Given the description of an element on the screen output the (x, y) to click on. 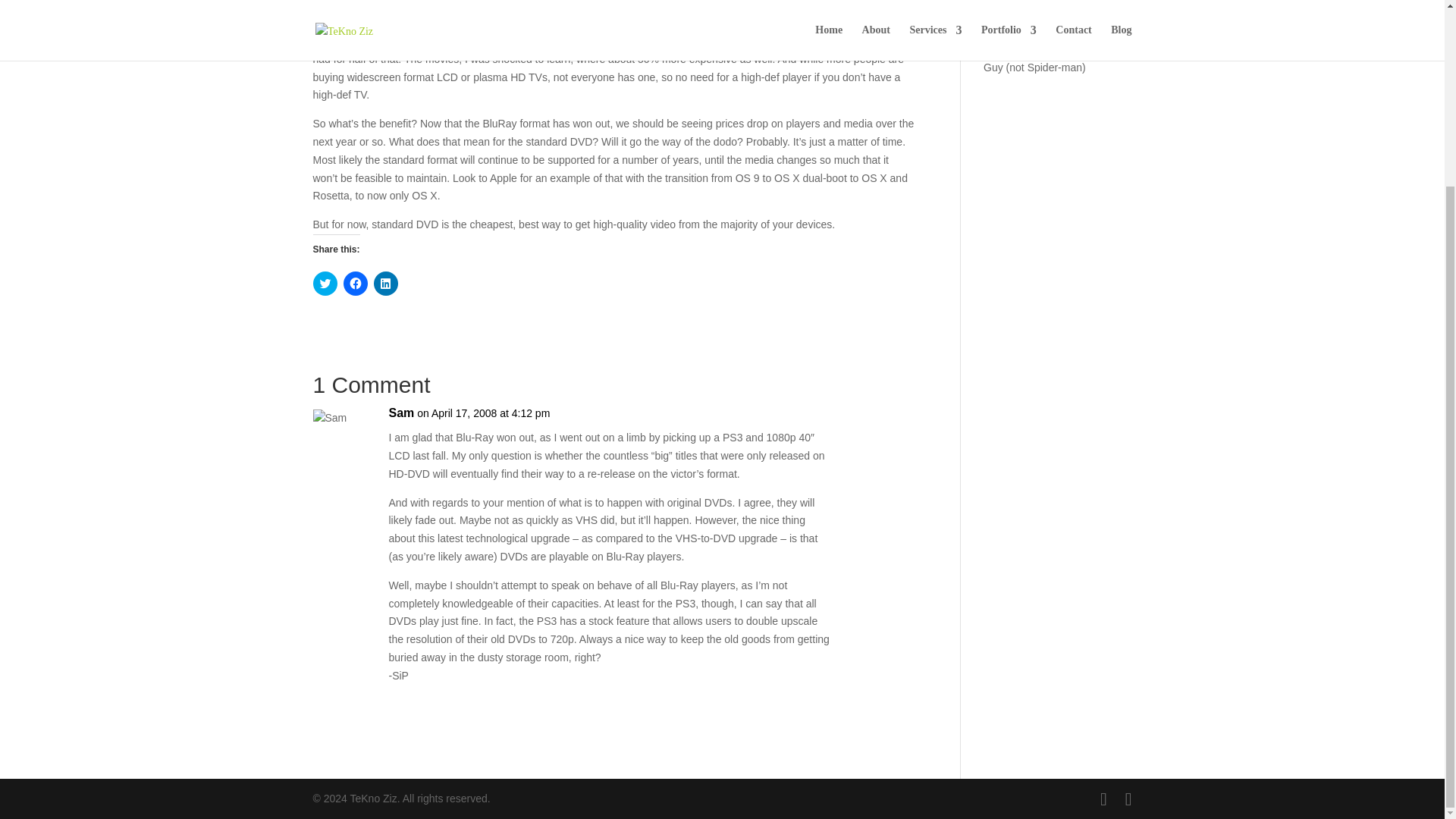
I Am the Night (1016, 4)
Click to share on Facebook (354, 283)
Click to share on LinkedIn (384, 283)
Click to share on Twitter (324, 283)
Sam (400, 413)
